Given the description of an element on the screen output the (x, y) to click on. 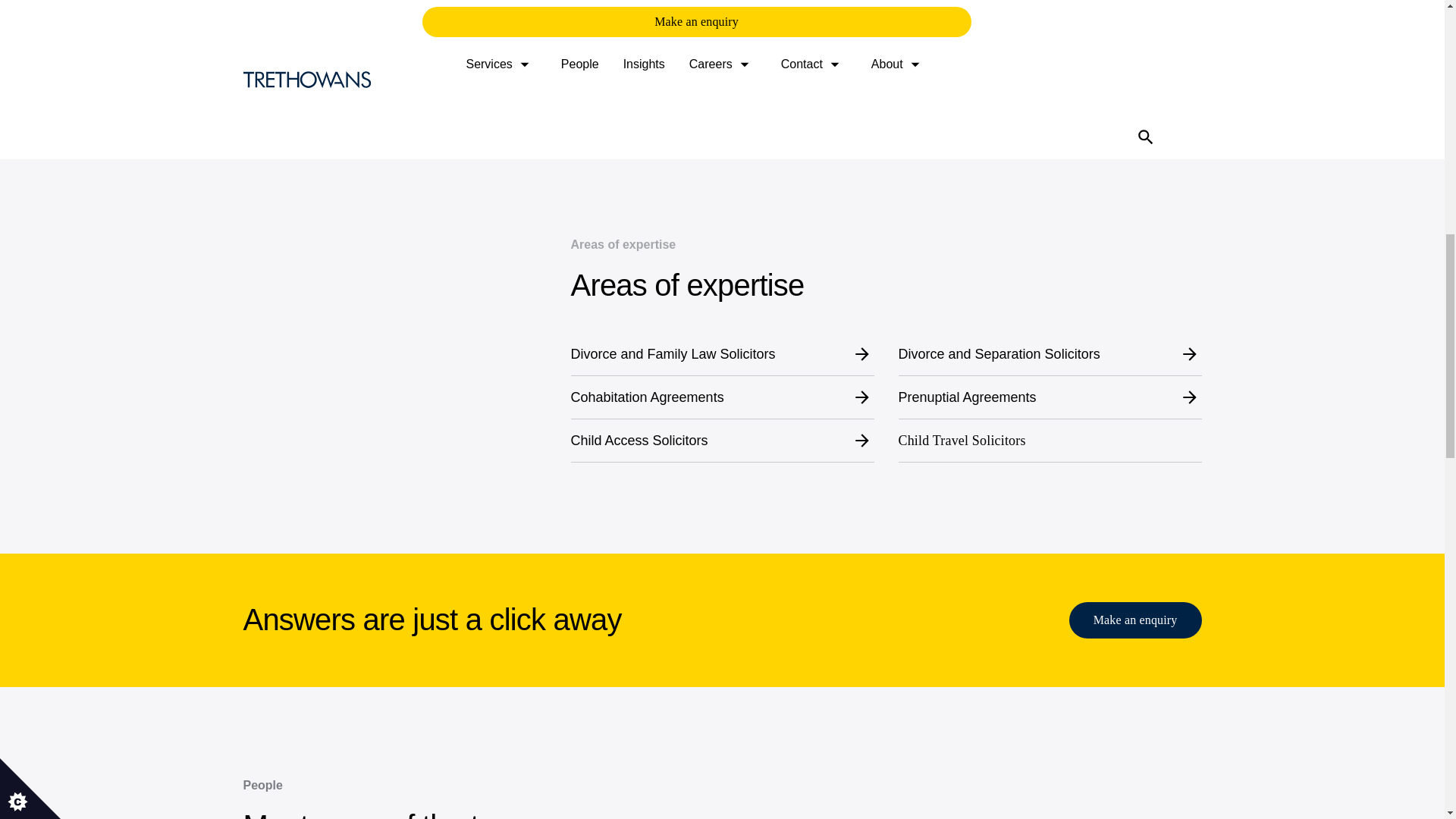
Cohabitation Agreements (721, 396)
Divorce and Family Law Solicitors  (721, 353)
Divorce and Separation Solicitors (1049, 353)
